Given the description of an element on the screen output the (x, y) to click on. 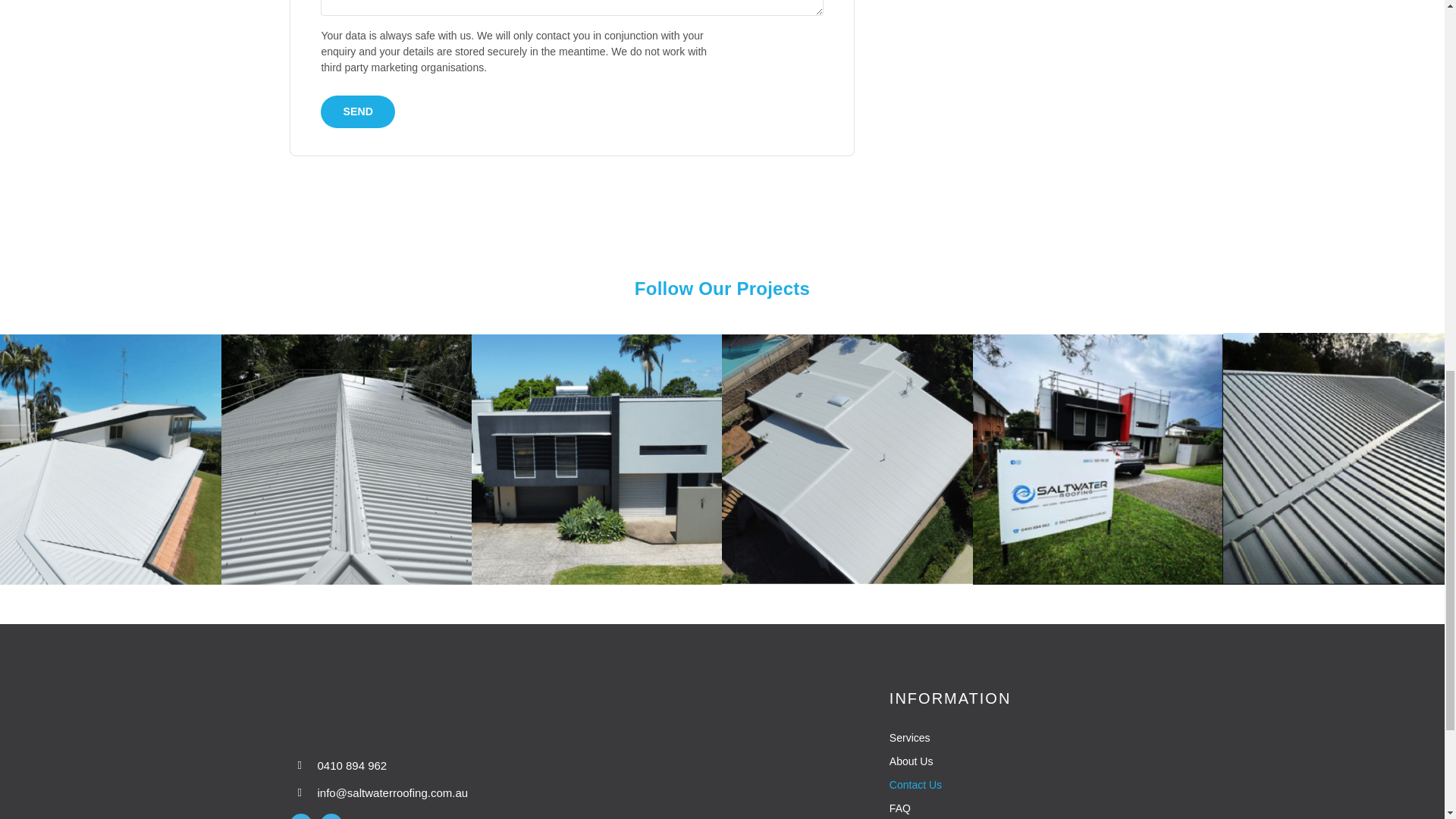
Saltwater Roofing Sunshine Coast Queensland (440, 708)
Services (1021, 738)
FAQ (1021, 808)
Contact Us (1021, 785)
SEND (357, 111)
Follow Our Projects (721, 288)
About Us (1021, 761)
0410 894 962 (352, 764)
